Given the description of an element on the screen output the (x, y) to click on. 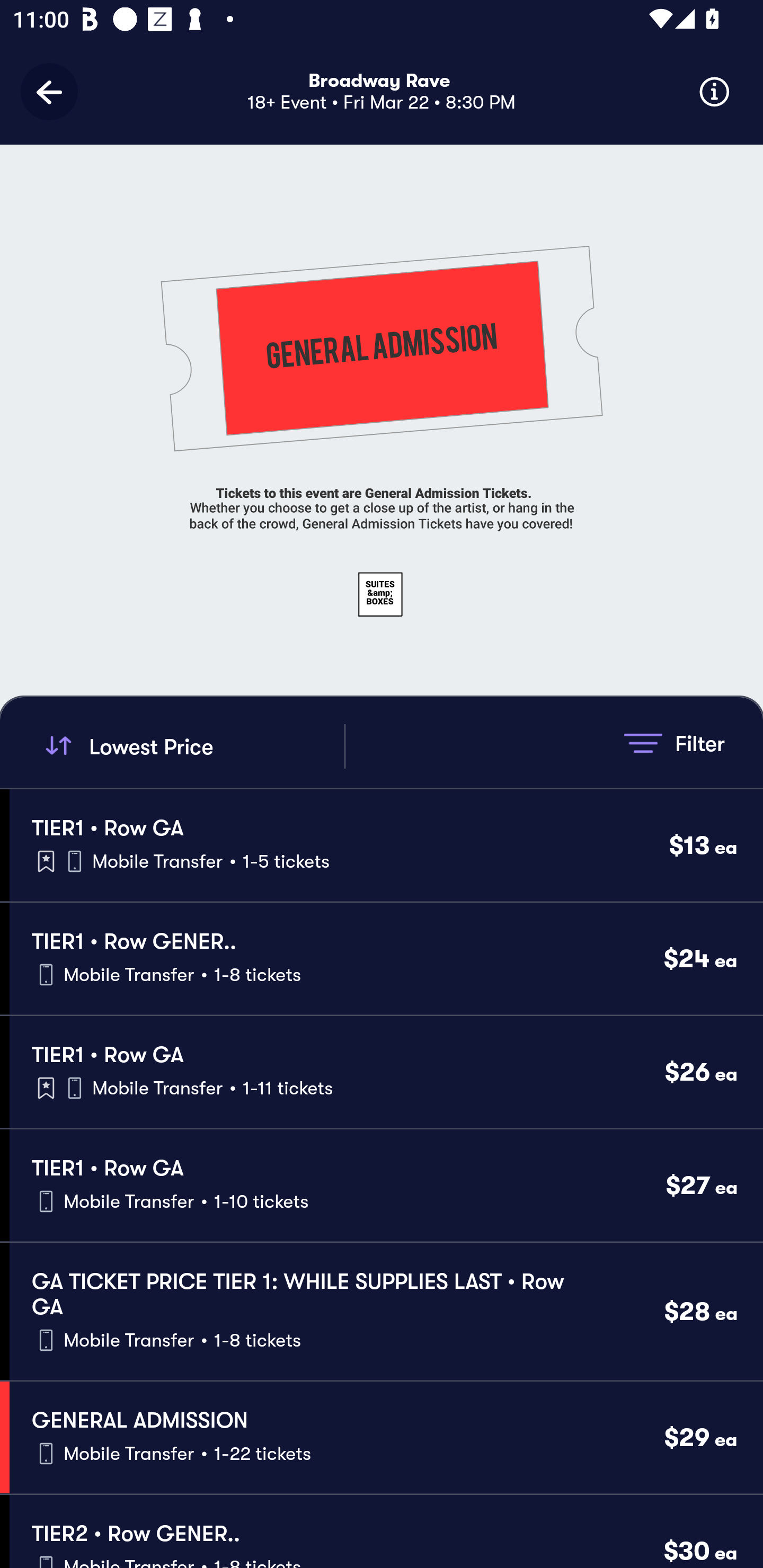
Lowest Price (191, 746)
Filter (674, 743)
